Given the description of an element on the screen output the (x, y) to click on. 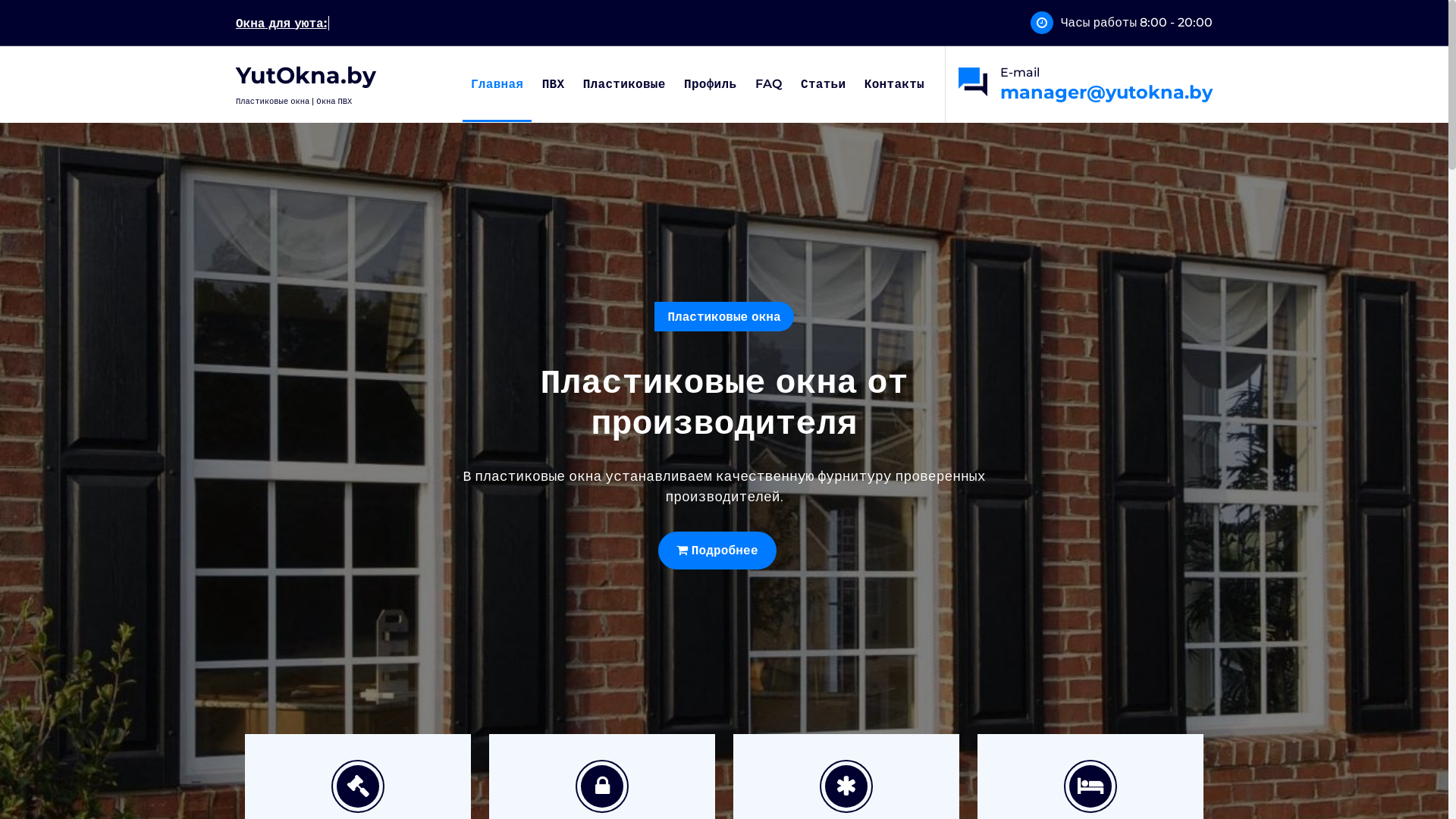
FAQ Element type: text (768, 84)
manager@yutokna.by Element type: text (1106, 92)
YutOkna.by Element type: text (305, 75)
